Given the description of an element on the screen output the (x, y) to click on. 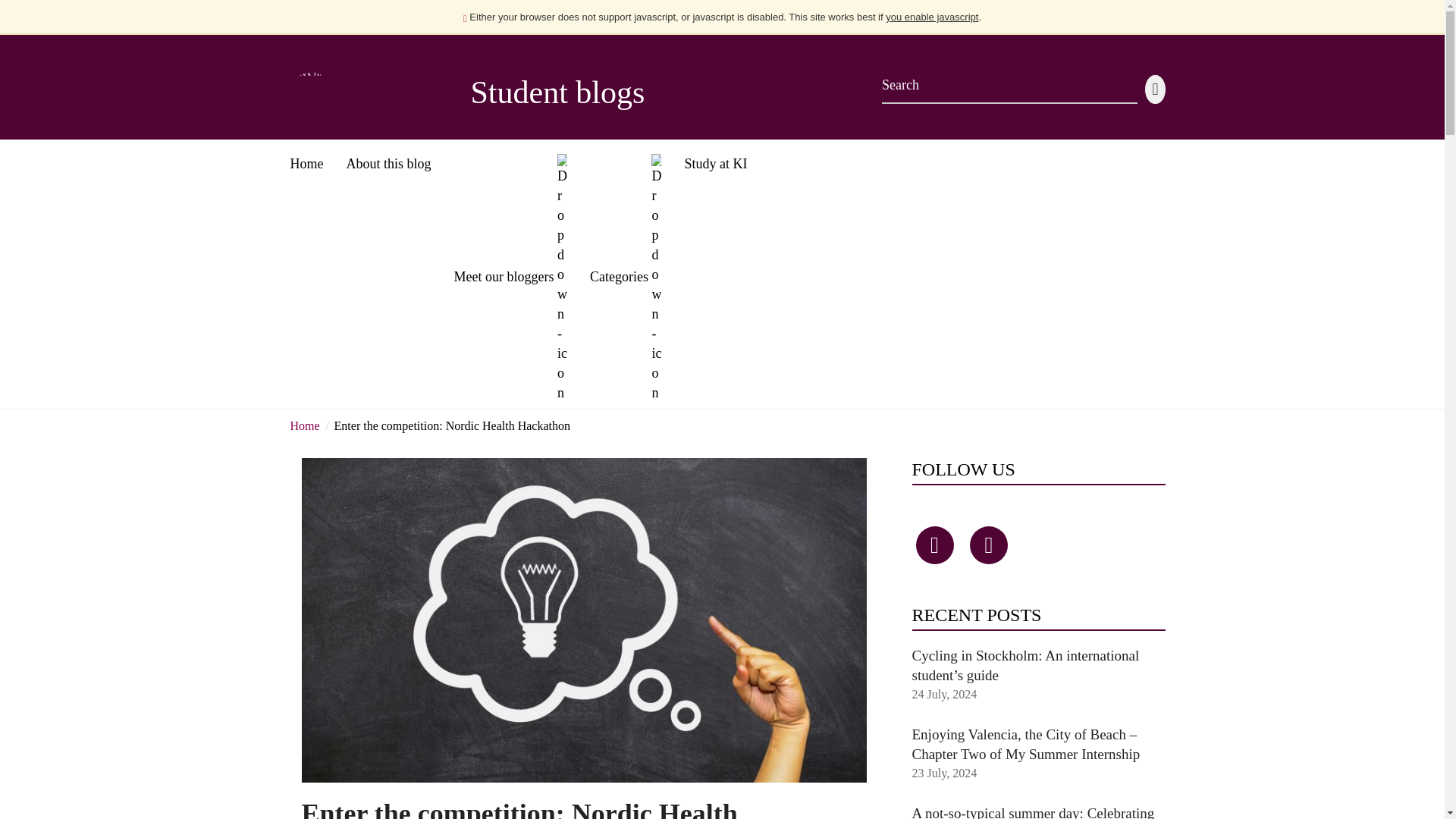
Home (306, 157)
About this blog (388, 157)
Home (303, 425)
Study at KI (715, 157)
